Given the description of an element on the screen output the (x, y) to click on. 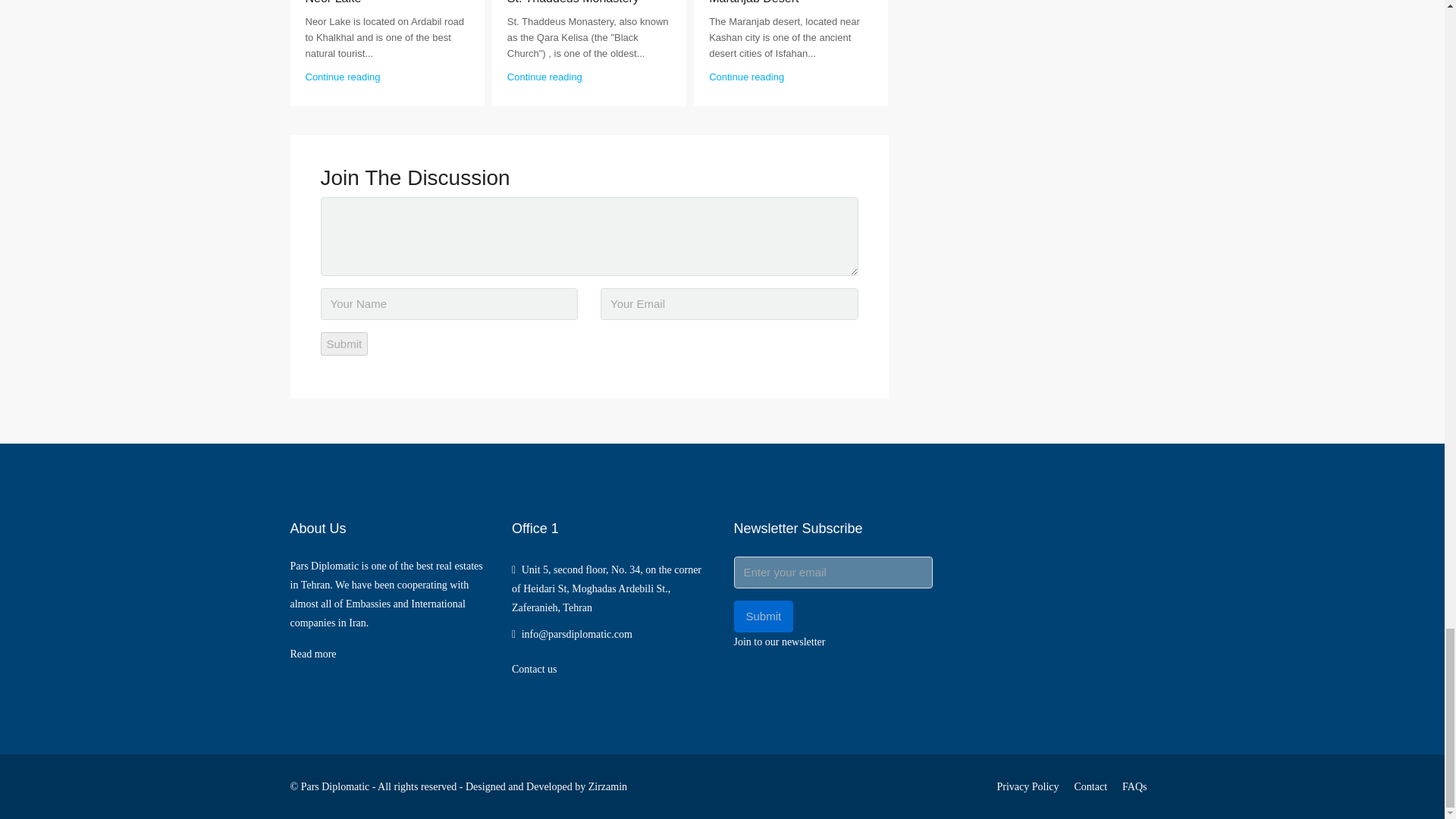
Submit (344, 343)
